Given the description of an element on the screen output the (x, y) to click on. 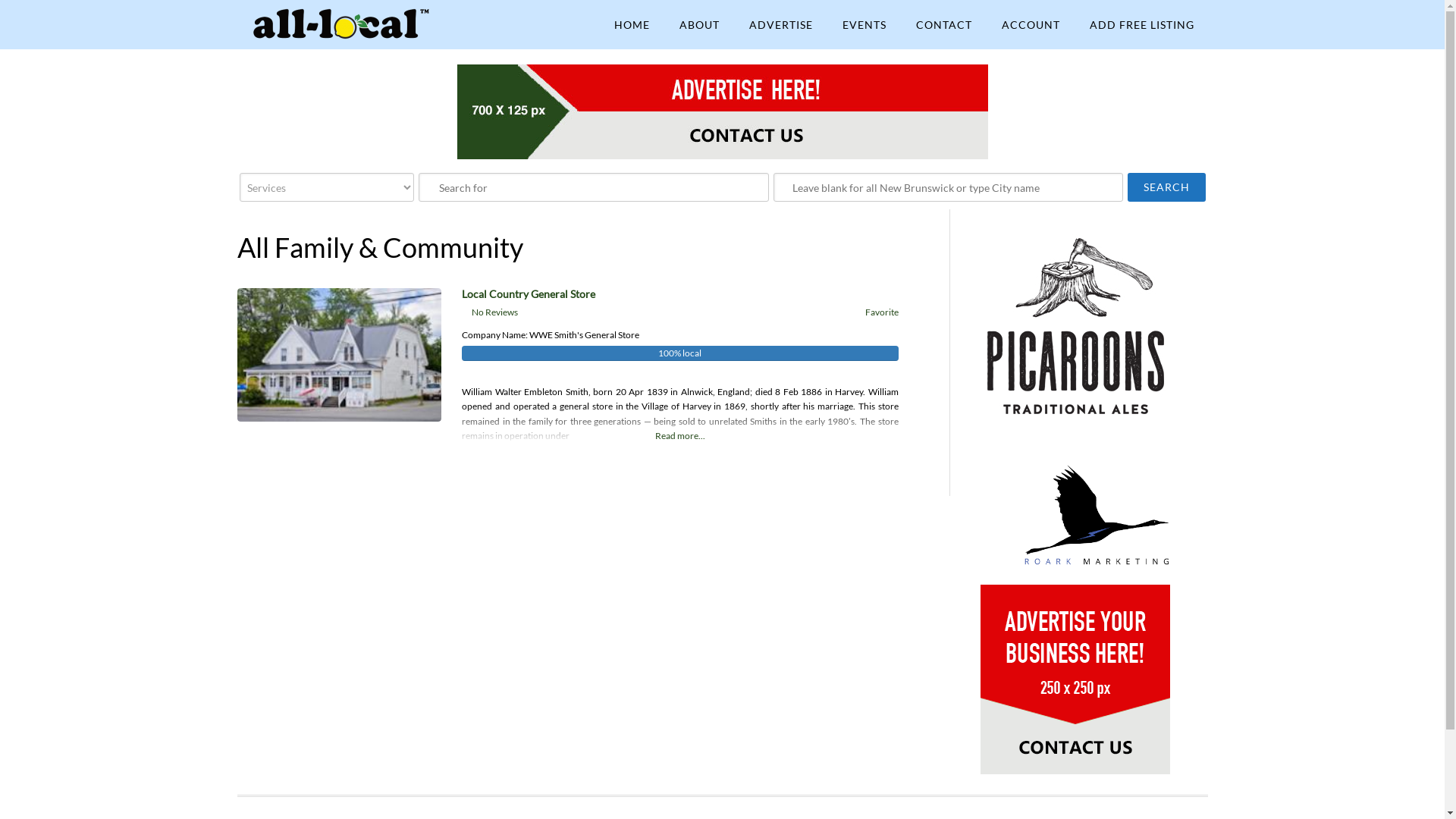
Read more... Element type: text (679, 424)
wwe-smiths-country-store Element type: hover (338, 354)
Favorite Element type: text (880, 311)
SHOP LOCAL NB Element type: text (357, 24)
CONTACT Element type: text (943, 24)
SEARCH
SEARCH Element type: text (1165, 186)
ACCOUNT Element type: text (1030, 24)
HOME Element type: text (631, 24)
ABOUT Element type: text (699, 24)
Local Country General Store Element type: text (528, 293)
All Family & Community Element type: text (379, 246)
EVENTS Element type: text (863, 24)
No Reviews Element type: text (494, 311)
ADVERTISE Element type: text (780, 24)
ADD FREE LISTING Element type: text (1141, 24)
